Given the description of an element on the screen output the (x, y) to click on. 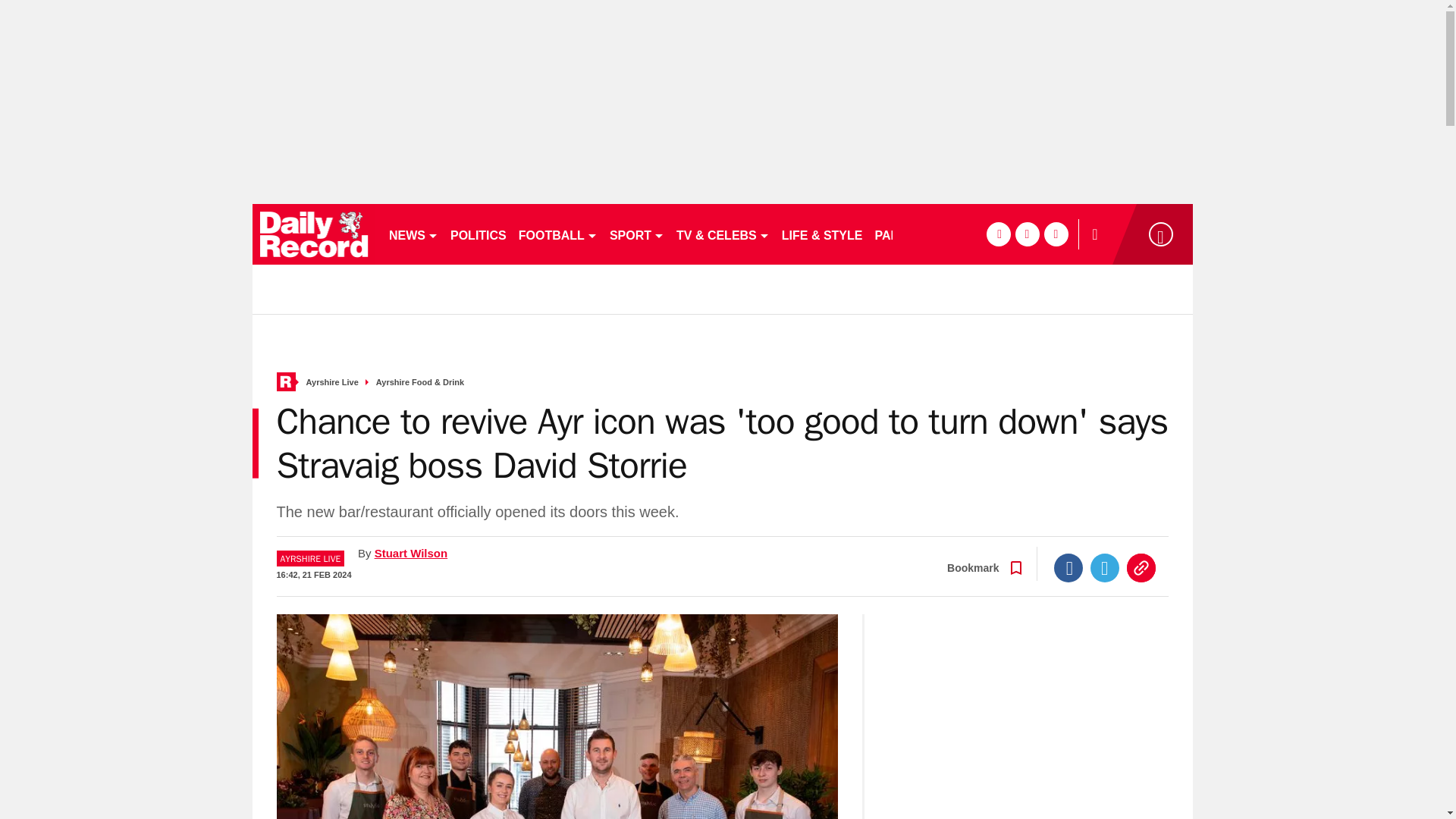
Twitter (1104, 567)
POLITICS (478, 233)
twitter (1026, 233)
instagram (1055, 233)
Facebook (1068, 567)
SPORT (636, 233)
facebook (997, 233)
dailyrecord (313, 233)
FOOTBALL (558, 233)
NEWS (413, 233)
